Given the description of an element on the screen output the (x, y) to click on. 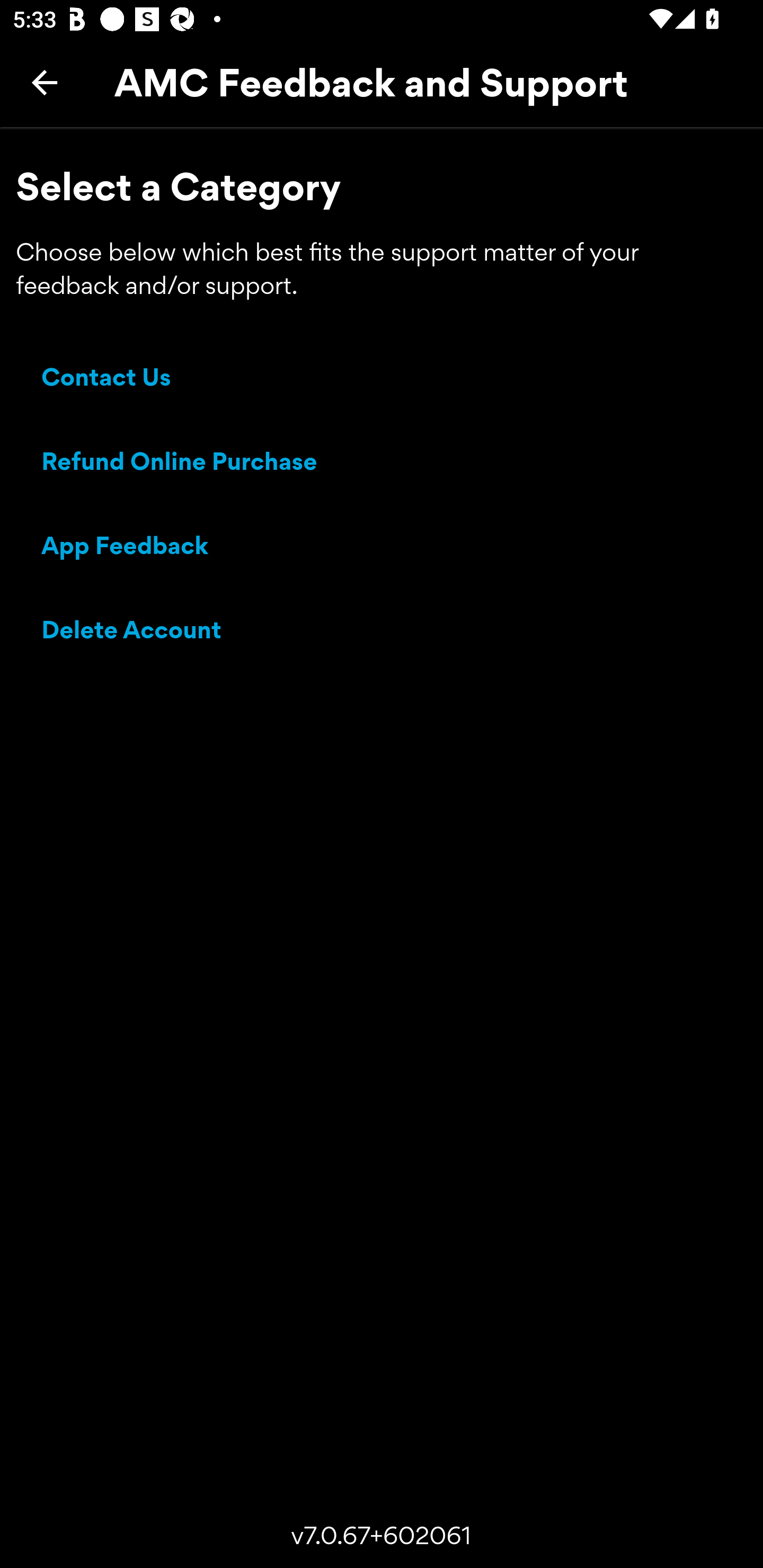
Back (44, 82)
Contact Us (106, 379)
Refund Online Purchase (179, 463)
App Feedback (125, 547)
Delete Account (131, 632)
